Given the description of an element on the screen output the (x, y) to click on. 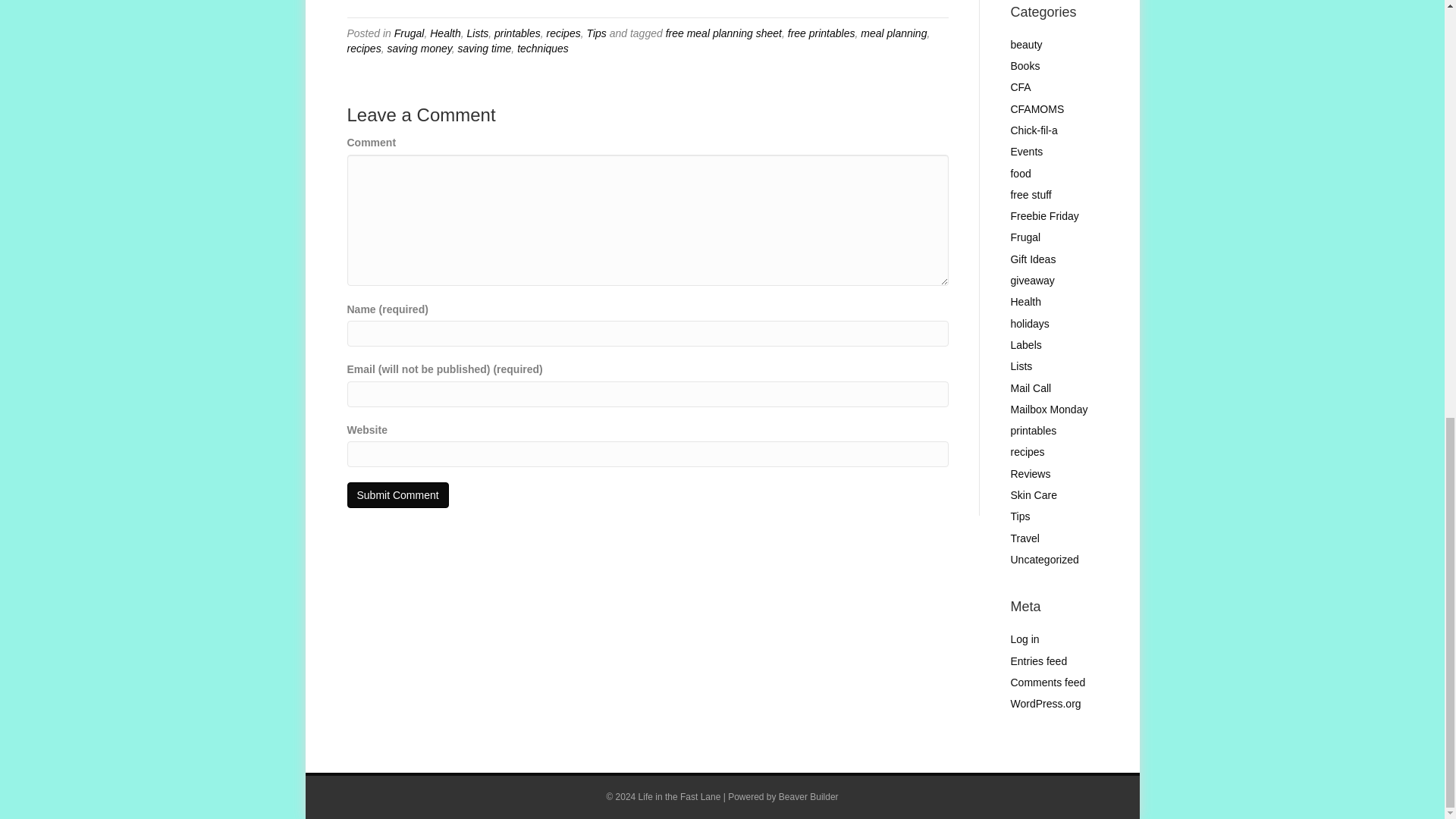
beauty (1026, 44)
Frugal (409, 33)
WordPress Page Builder Plugin (808, 796)
CFAMOMS (1037, 109)
printables (517, 33)
free meal planning sheet (723, 33)
Lists (476, 33)
Health (444, 33)
Submit Comment (397, 494)
Events (1026, 151)
saving money (419, 48)
food (1020, 173)
Submit Comment (397, 494)
Books (1024, 65)
meal planning (893, 33)
